Given the description of an element on the screen output the (x, y) to click on. 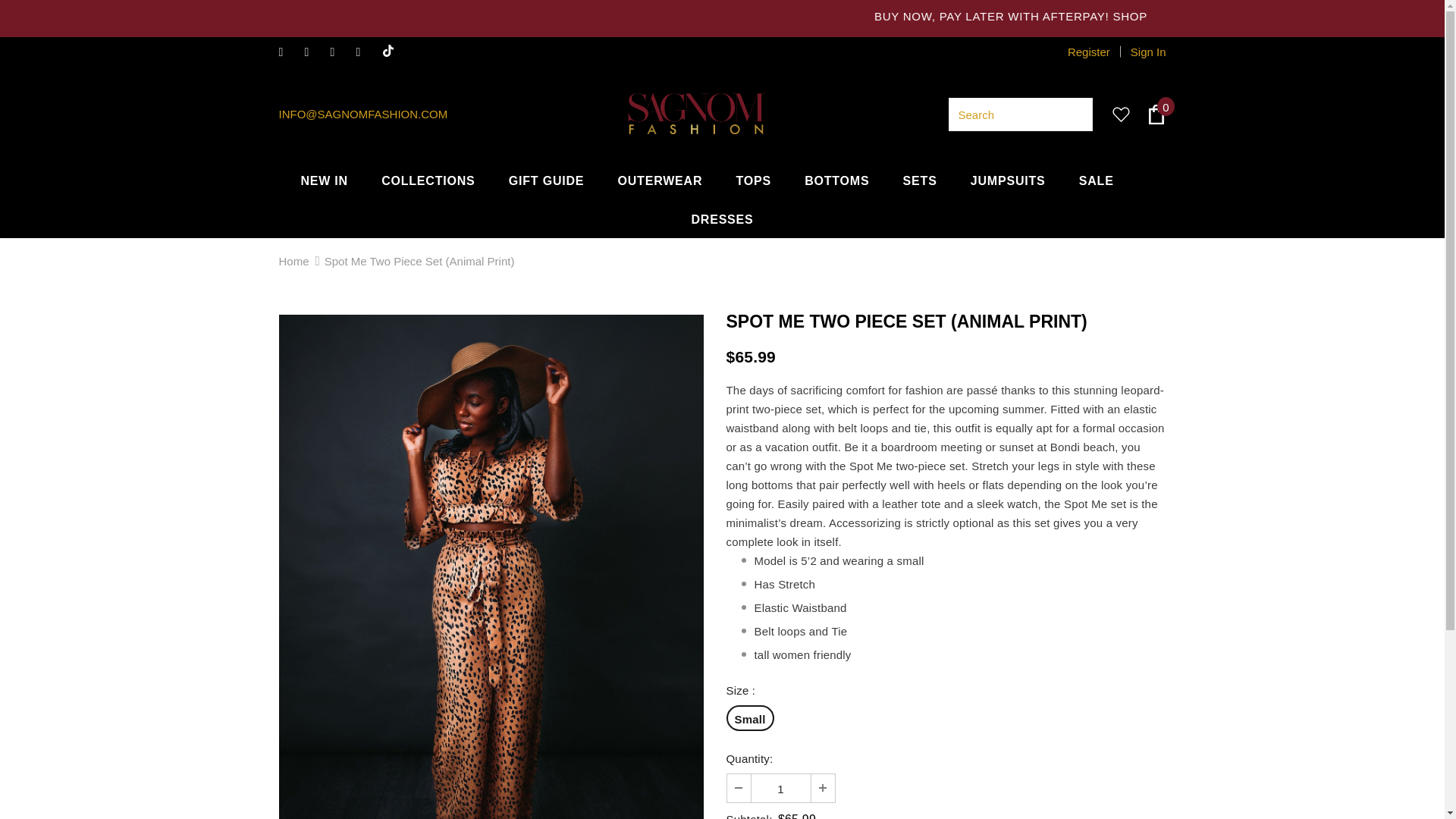
Cart Icon (1156, 114)
Pinterest (339, 52)
GIFT GUIDE (546, 180)
YouTube (365, 52)
JUMPSUITS (1008, 180)
TOPS (752, 180)
DRESSES (721, 218)
SETS (919, 180)
NEW IN (323, 180)
BOTTOMS (837, 180)
